Given the description of an element on the screen output the (x, y) to click on. 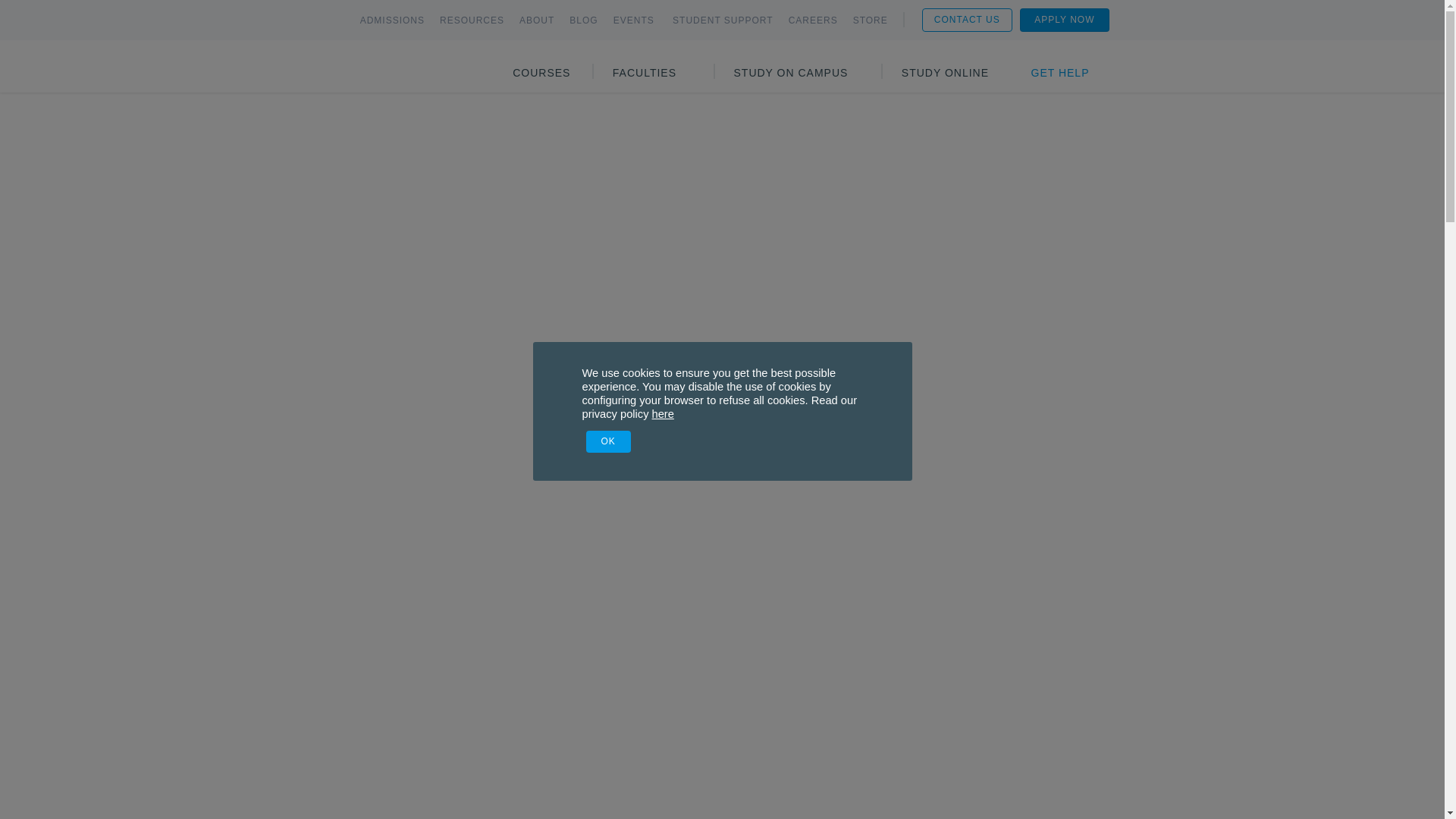
COURSES (541, 72)
FACULTIES (644, 72)
STUDENT SUPPORT (722, 19)
BLOG (582, 19)
APPLY NOW (1064, 19)
STUDY ON CAMPUS (790, 72)
CONTACT US (966, 19)
STORE (870, 19)
STUDY ONLINE (945, 72)
RESOURCES (471, 19)
